Given the description of an element on the screen output the (x, y) to click on. 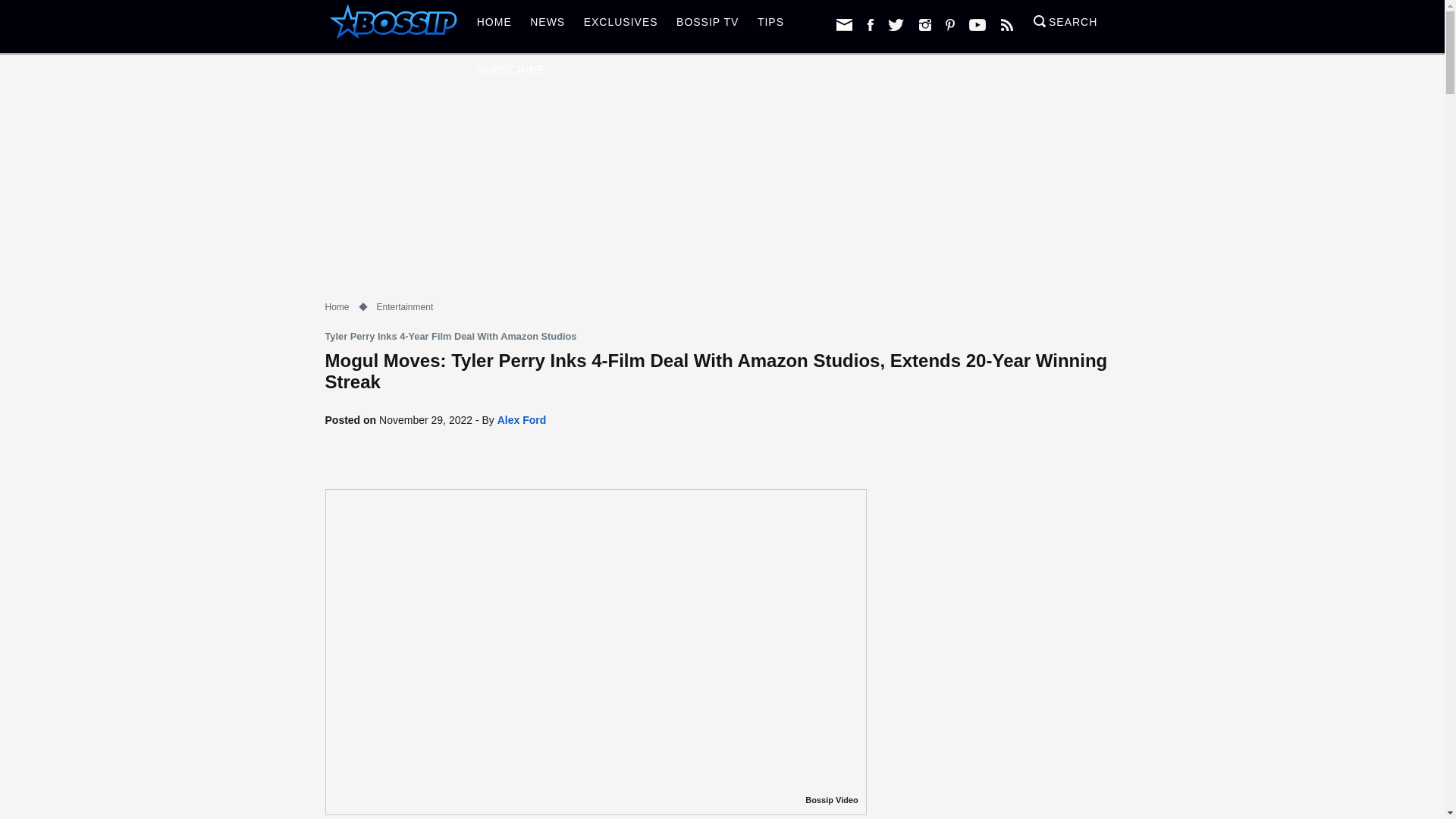
Follow Bossip on Twitter (896, 24)
Subscribe to our newsletter (843, 24)
HOME (493, 26)
twitter (896, 24)
Posts by Alex Ford (522, 419)
NEWS (547, 26)
SEARCH (1065, 26)
instagram (924, 24)
EXCLUSIVES (620, 26)
TIPS (770, 26)
